Given the description of an element on the screen output the (x, y) to click on. 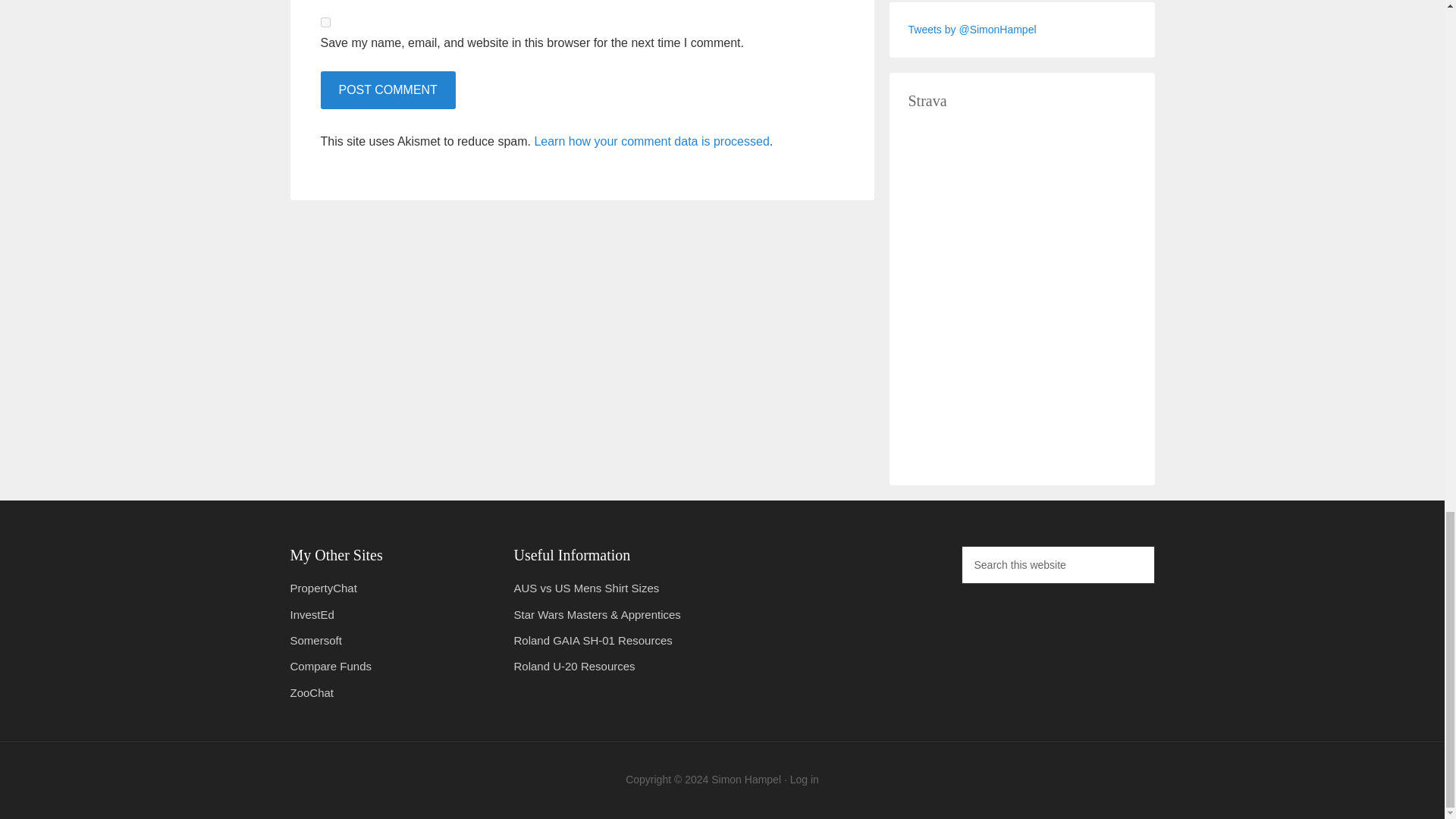
Analysis of Tweets by Australian MPs (322, 587)
Compare Managed Funds and ETFs (330, 666)
Investor Education (311, 614)
Learn how your comment data is processed (651, 141)
yes (325, 22)
Post Comment (387, 89)
Post Comment (387, 89)
